Given the description of an element on the screen output the (x, y) to click on. 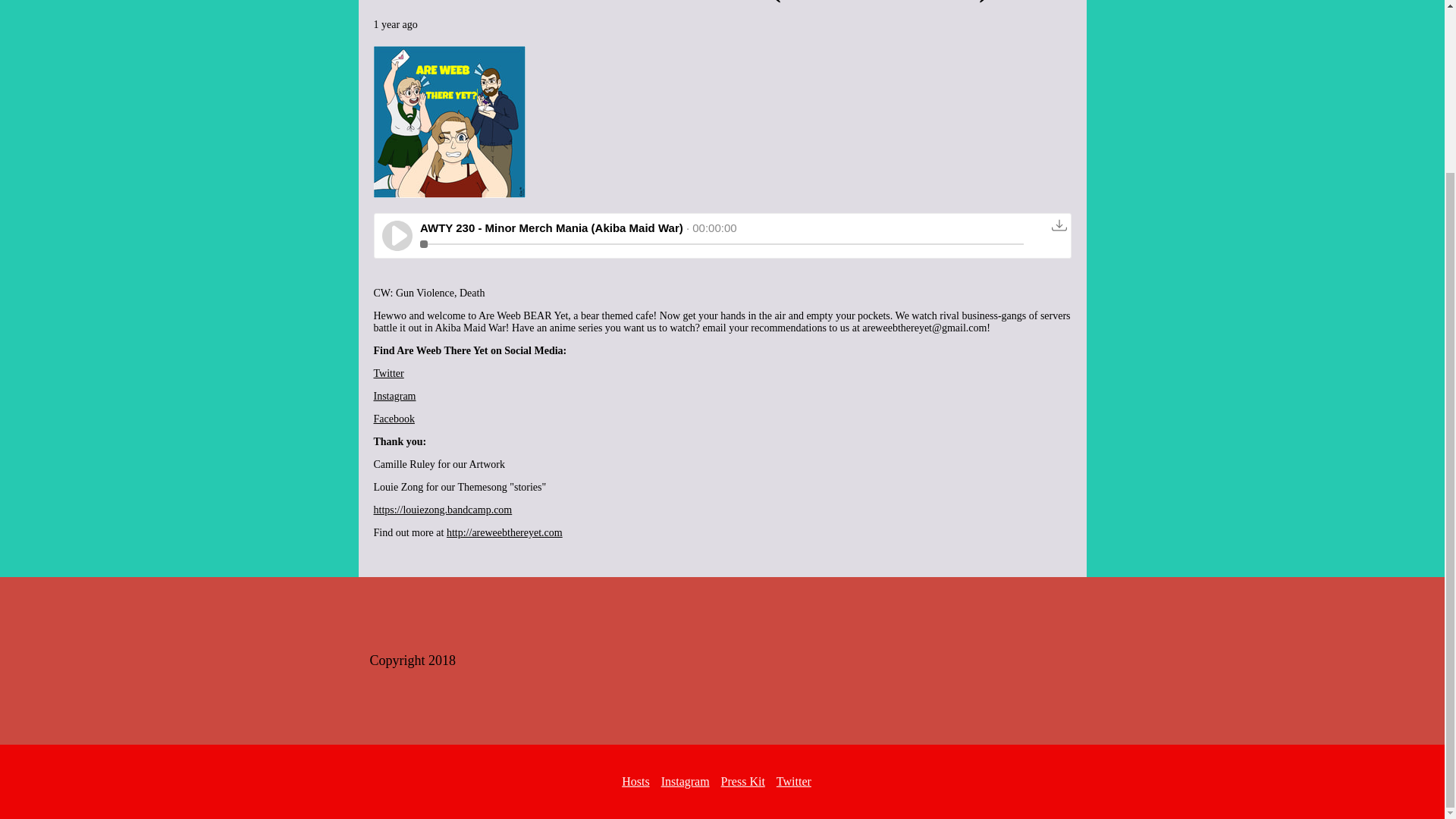
Instagram (393, 396)
Press Kit (742, 780)
Twitter (387, 373)
Twitter (793, 780)
Instagram (685, 780)
Facebook (392, 419)
Hosts (635, 780)
